Given the description of an element on the screen output the (x, y) to click on. 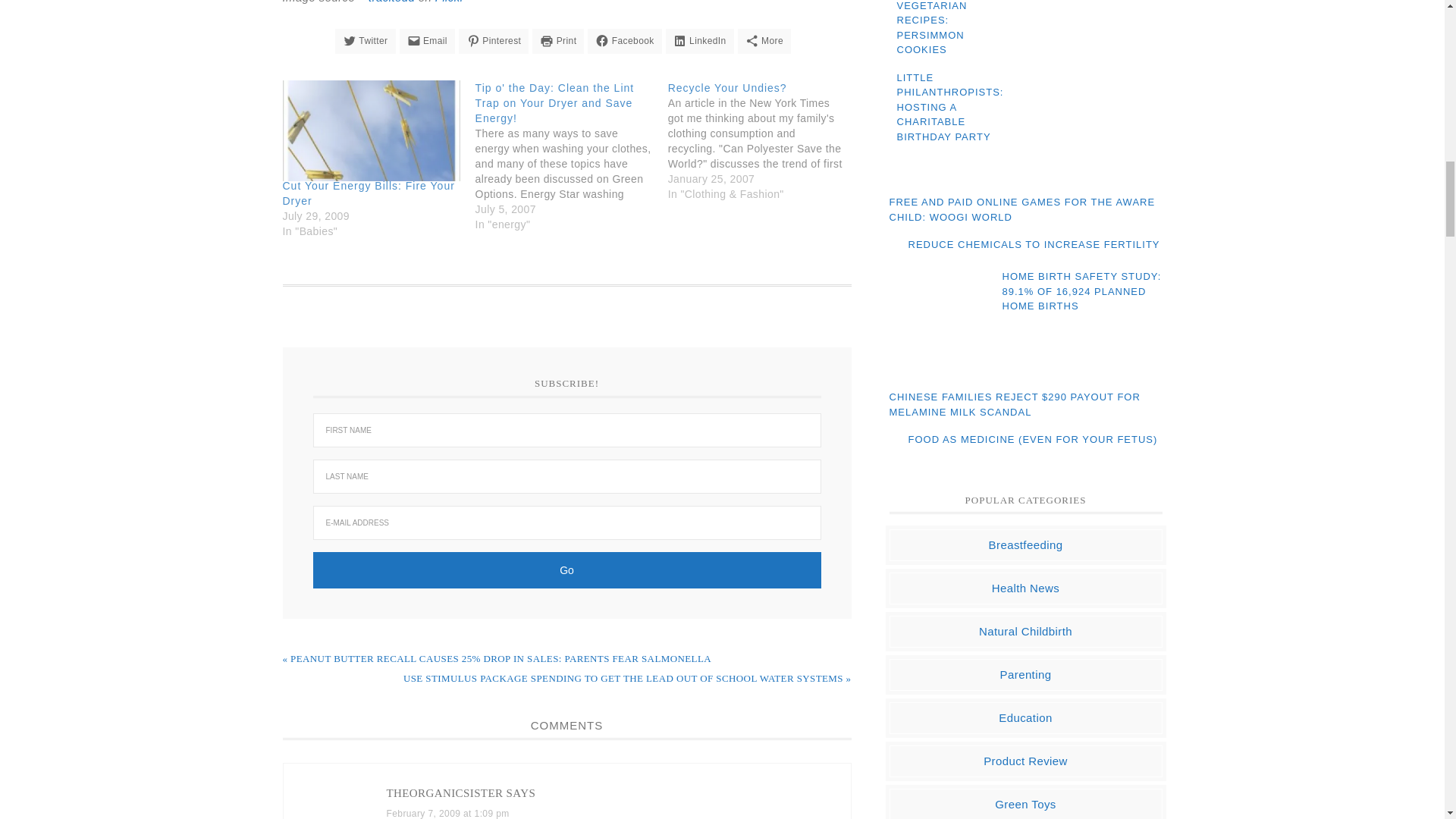
Cut Your Energy Bills: Fire Your Dryer (368, 193)
More (764, 41)
Click to email this to a friend (426, 41)
Cut Your Energy Bills: Fire Your Dryer (371, 130)
Click to share on Facebook (624, 41)
Cut Your Energy Bills: Fire Your Dryer (368, 193)
Click to share on Twitter (365, 41)
Flickr (449, 2)
Click to share on Pinterest (493, 41)
tracitodd (391, 2)
Recycle Your Undies? (727, 87)
Twitter (365, 41)
LinkedIn (699, 41)
Go (567, 570)
Pinterest (493, 41)
